Given the description of an element on the screen output the (x, y) to click on. 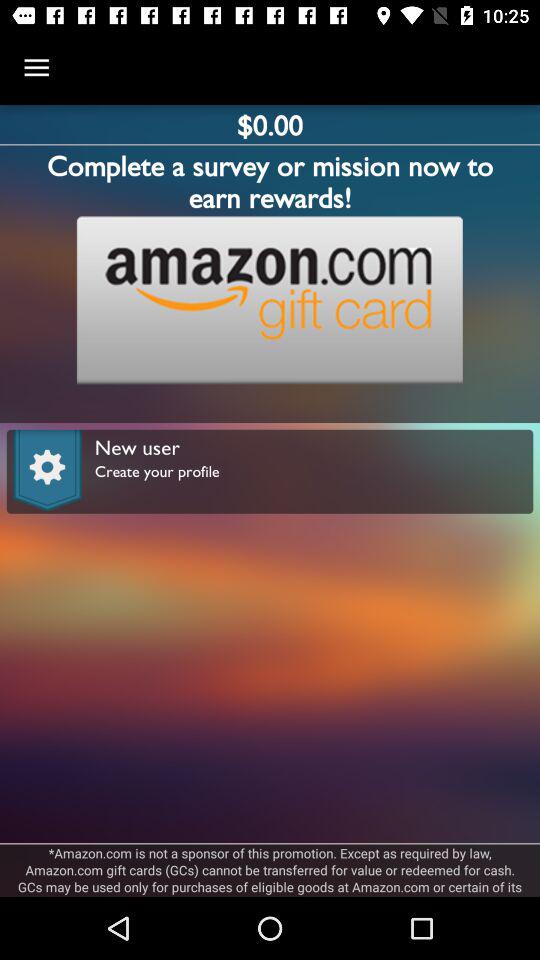
go to amazon gift card survey (269, 300)
